Given the description of an element on the screen output the (x, y) to click on. 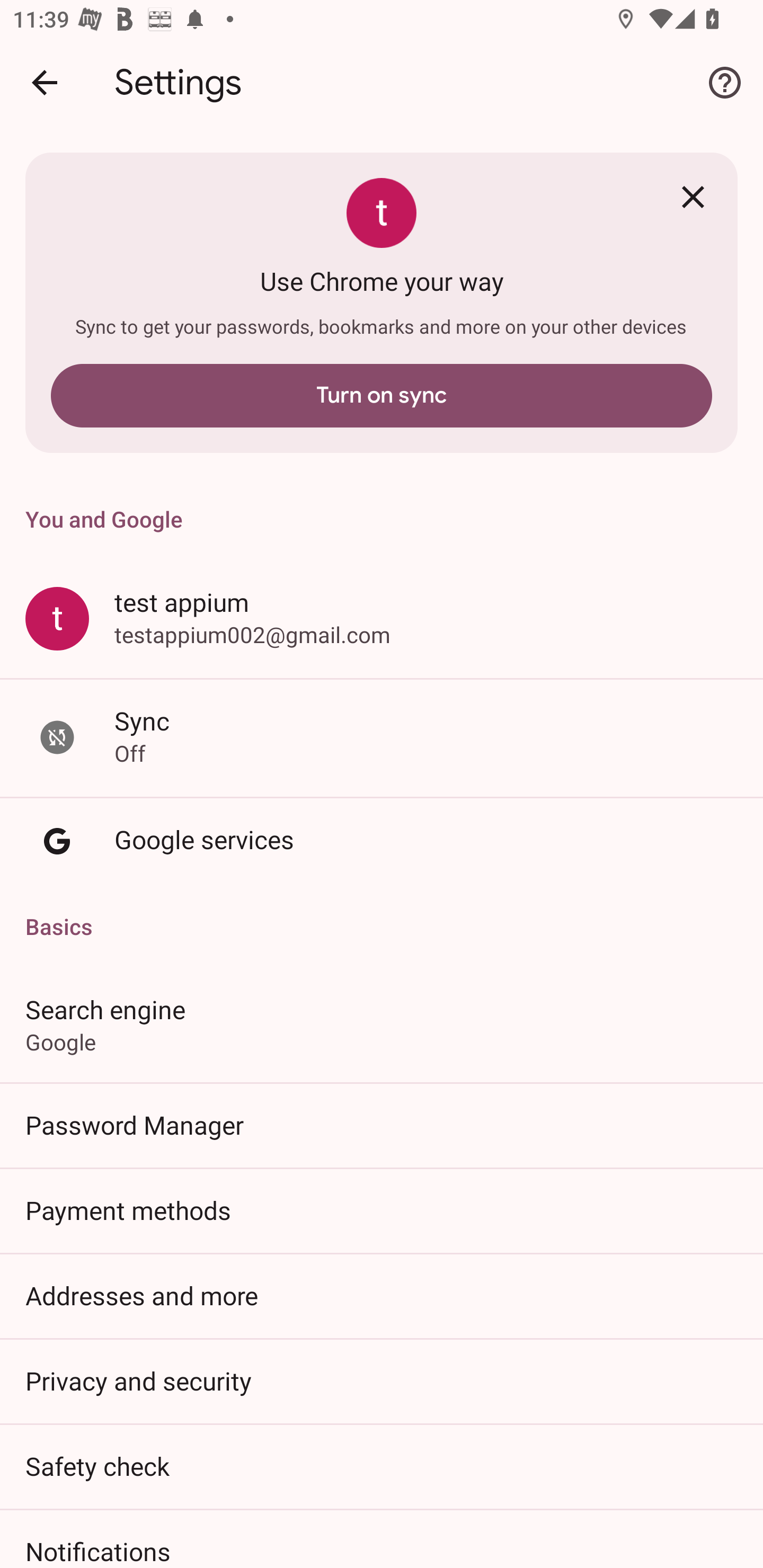
Navigate up (44, 82)
Help & feedback (724, 81)
Close (692, 196)
Turn on sync (381, 395)
test appium testappium002@gmail.com (381, 618)
Sync Off (381, 736)
Google services (381, 840)
Search engine Google (381, 1024)
Password Manager (381, 1124)
Payment methods (381, 1210)
Addresses and more (381, 1294)
Privacy and security (381, 1380)
Safety check (381, 1465)
Notifications (381, 1538)
